Given the description of an element on the screen output the (x, y) to click on. 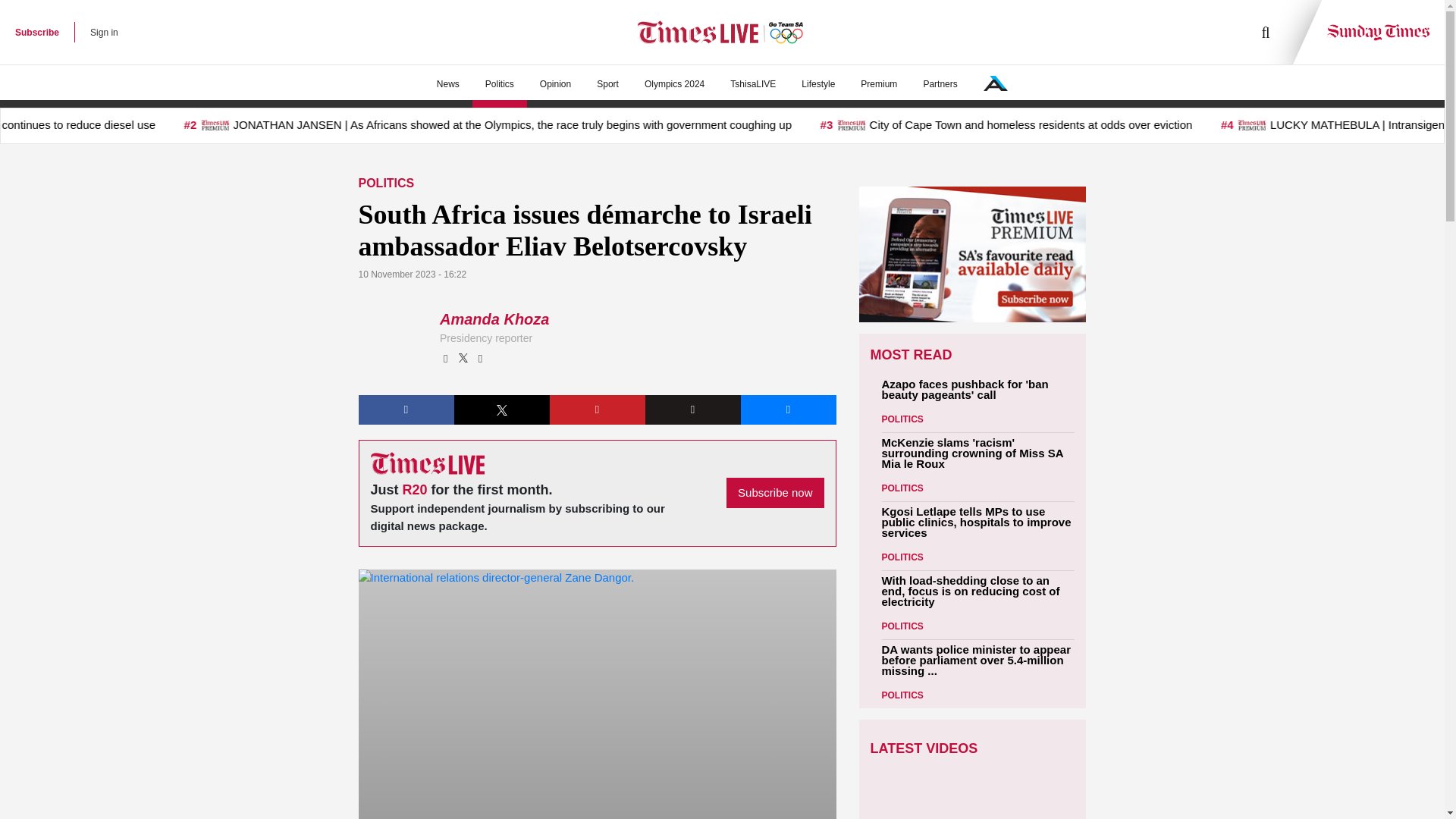
Subscribe (36, 32)
Lifestyle (818, 84)
TshisaLIVE (753, 84)
News (447, 84)
Sport (607, 84)
Sign in (103, 32)
Politics (499, 84)
Premium (878, 84)
Our Network (995, 83)
Opinion (555, 84)
